Given the description of an element on the screen output the (x, y) to click on. 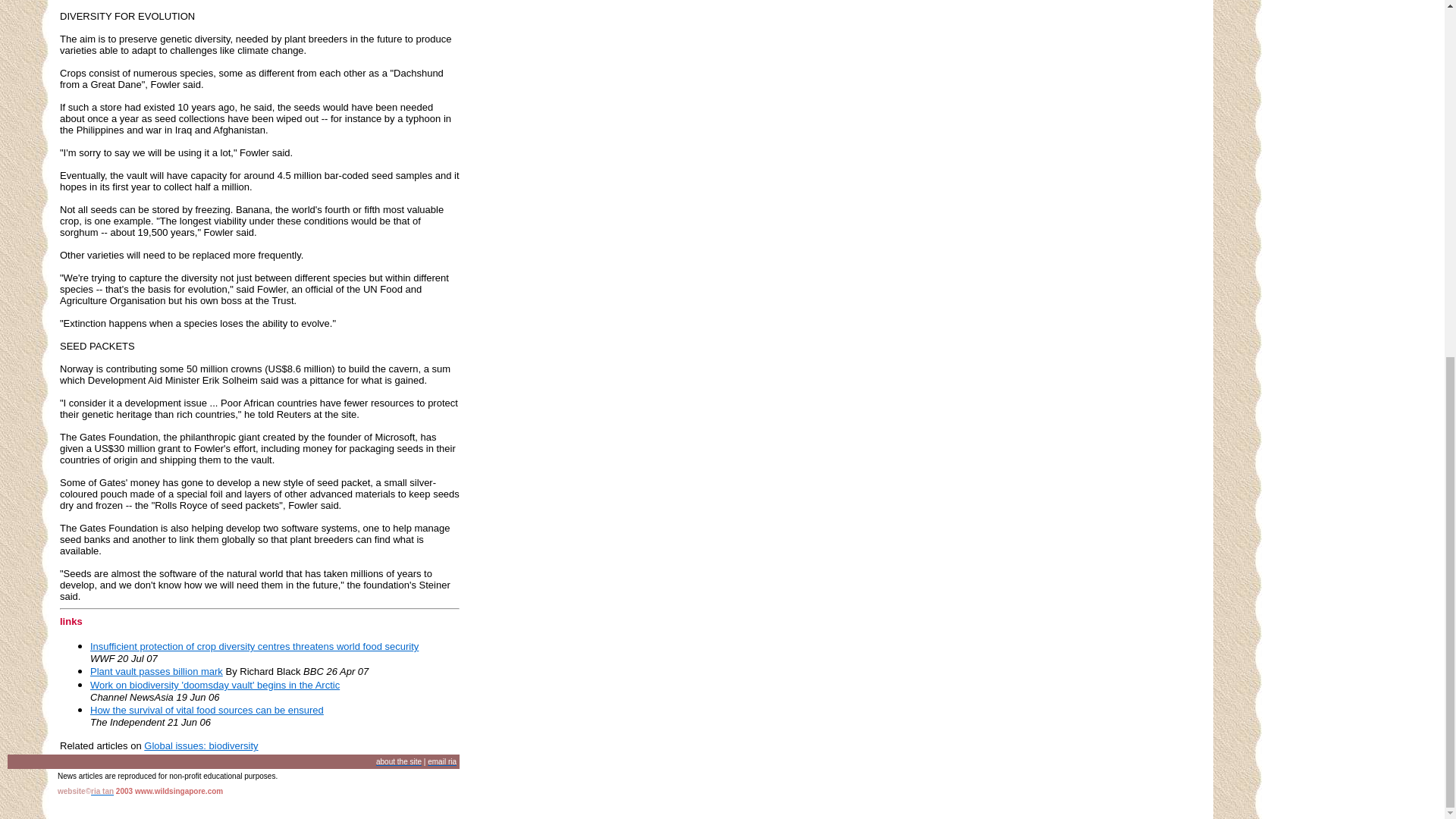
Global issues: biodiversity (200, 745)
Plant vault passes billion mark (156, 671)
Work on biodiversity 'doomsday vault' begins in the Arctic (214, 685)
email ria (442, 761)
How the survival of vital food sources can be ensured (206, 709)
ria tan (101, 791)
about the site (398, 761)
